Given the description of an element on the screen output the (x, y) to click on. 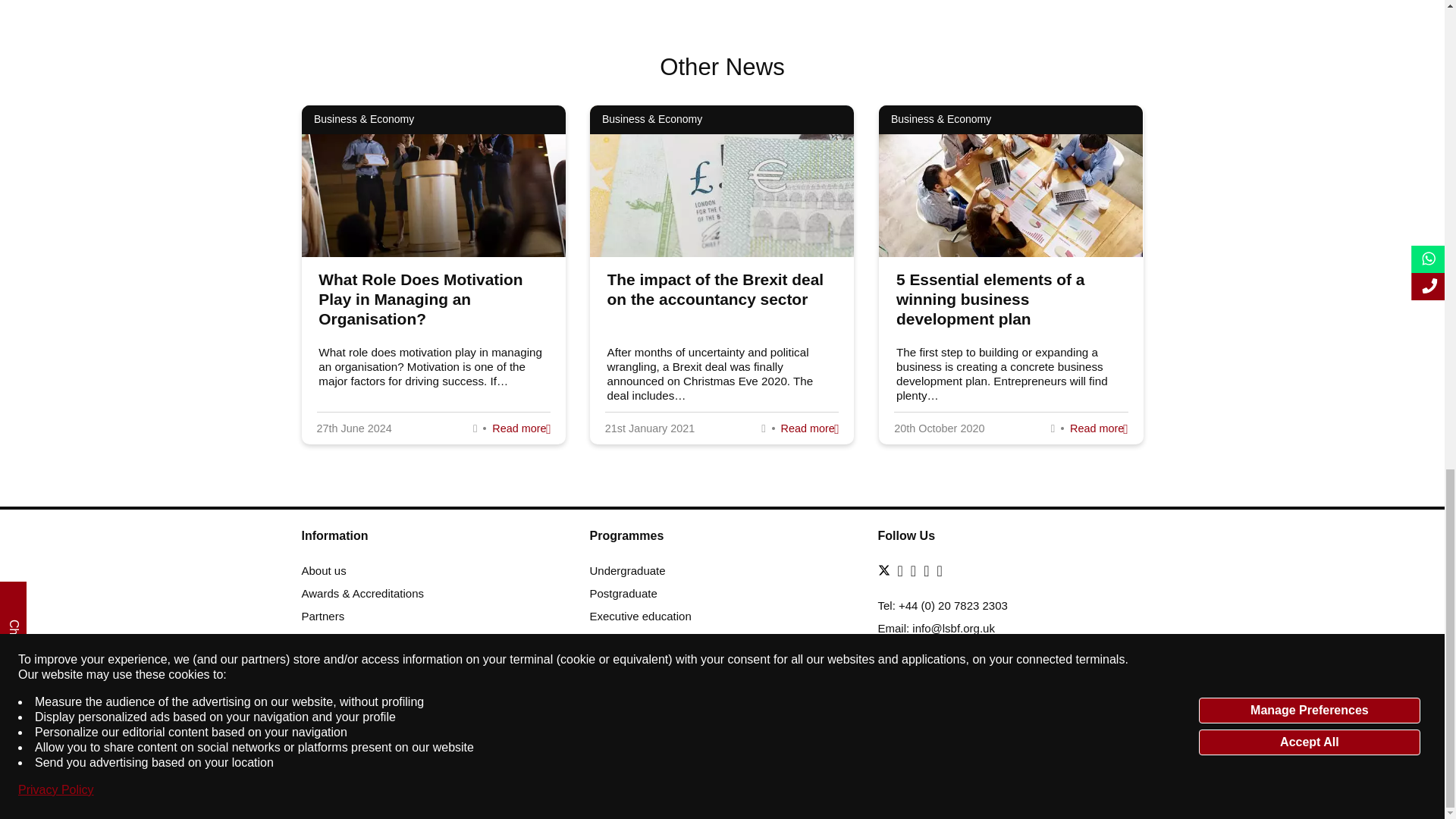
The impact of the Brexit deal on the accountancy sector (715, 289)
What Role Does Motivation Play in Managing an Organisation? (420, 299)
5 Essential elements of a winning business development plan (990, 299)
The impact of the Brexit deal on the accountancy sector (809, 427)
The impact of the Brexit deal on the accountancy sector (715, 289)
Read more (521, 427)
What Role Does Motivation Play in Managing an Organisation? (420, 299)
What Role Does Motivation Play in Managing an Organisation? (521, 427)
5 Essential elements of a winning business development plan (1098, 427)
